Given the description of an element on the screen output the (x, y) to click on. 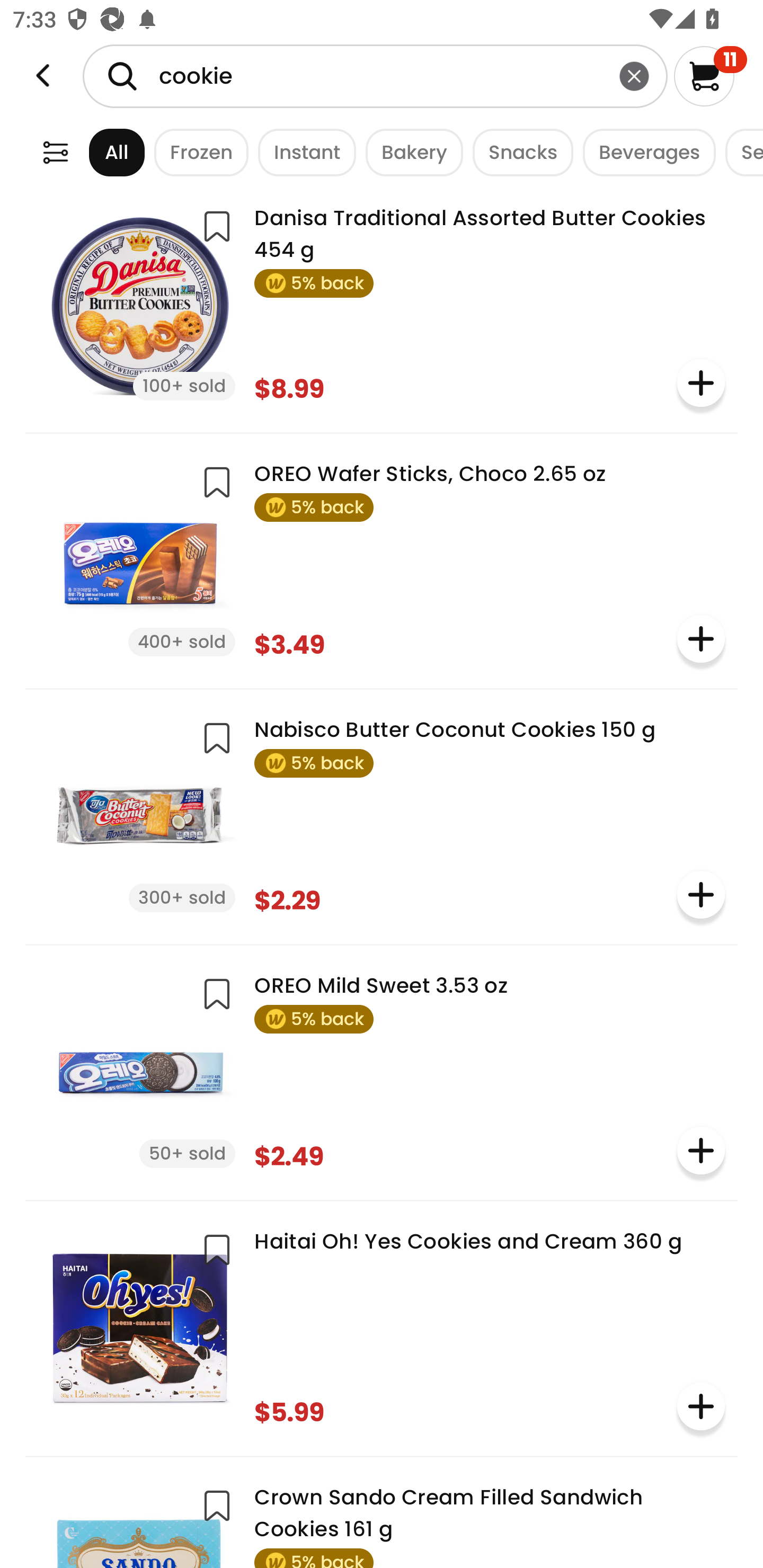
cookie (374, 75)
11 (709, 75)
Weee! (42, 76)
Weee! (55, 151)
All (99, 151)
Frozen (196, 151)
Instant (302, 151)
Bakery (409, 151)
Snacks (518, 151)
Beverages (644, 151)
OREO Mild Sweet 3.53 oz 5% back 50+ sold $2.49 (381, 1070)
Haitai Oh! Yes Cookies and Cream 360 g $5.99 (381, 1326)
